Given the description of an element on the screen output the (x, y) to click on. 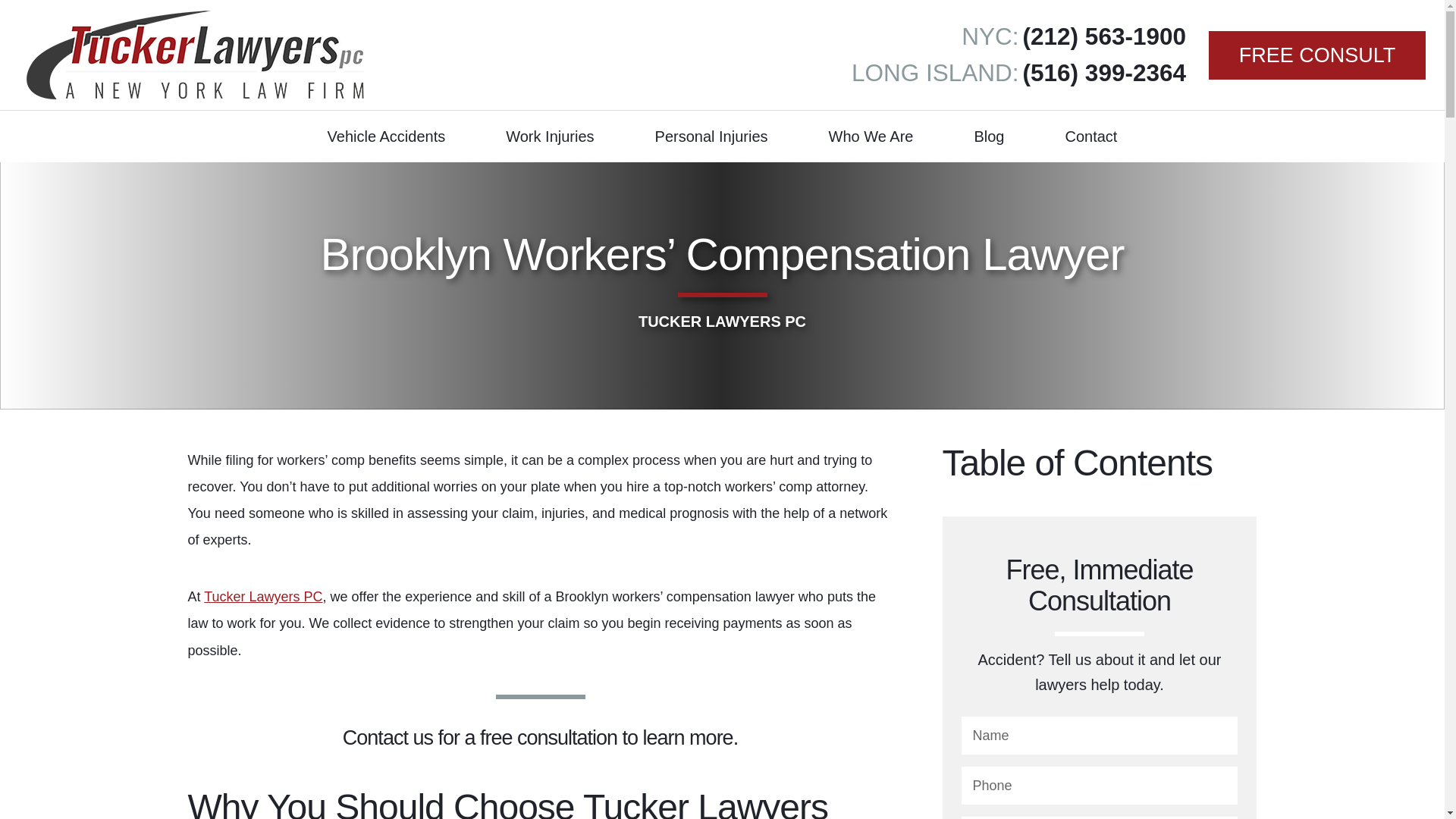
Personal Injuries (710, 136)
Contact (1090, 136)
FREE CONSULT (1316, 54)
Vehicle Accidents (386, 136)
Blog (988, 136)
Work Injuries (550, 136)
Tucker Lawyers PC (262, 596)
Who We Are (870, 136)
